Given the description of an element on the screen output the (x, y) to click on. 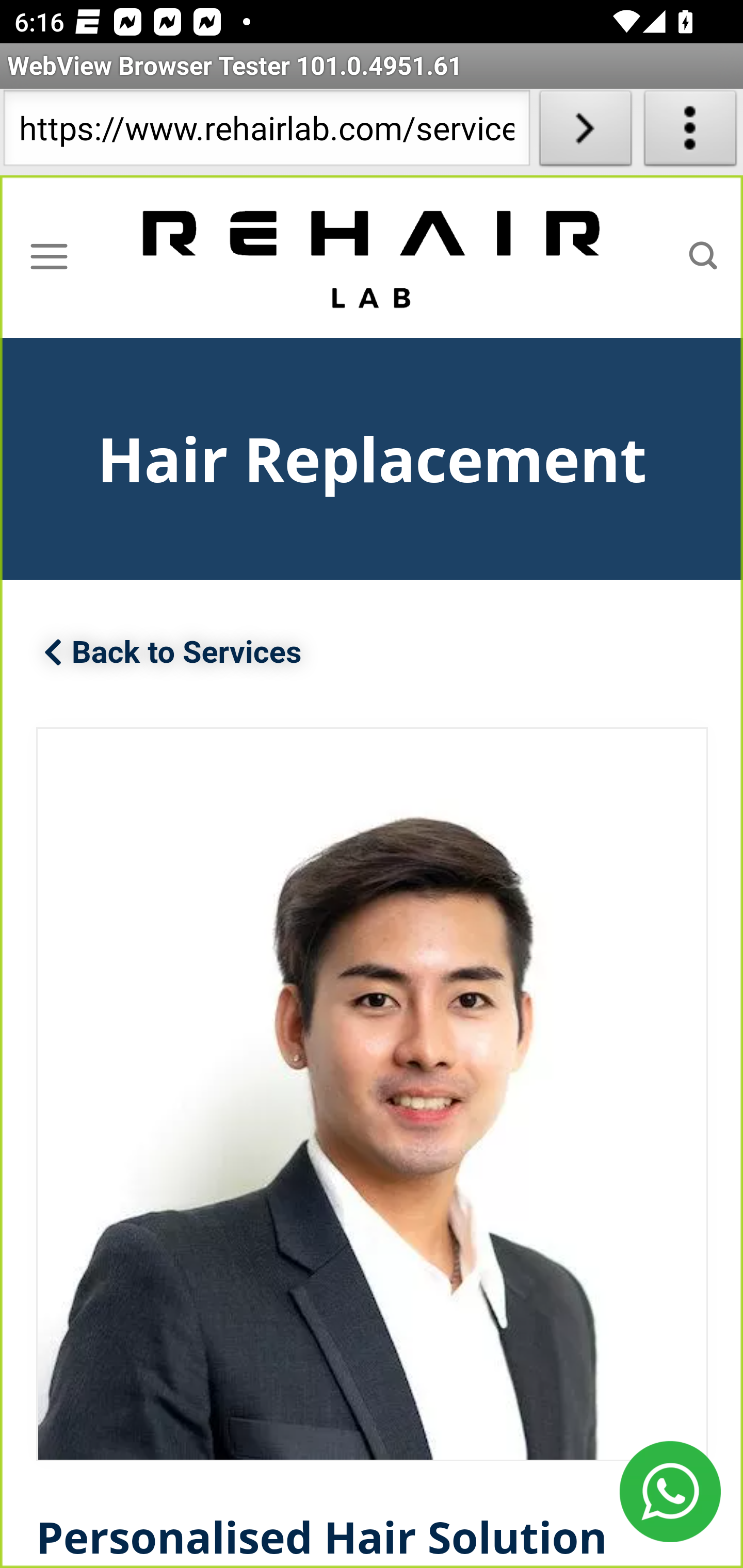
Load URL (585, 132)
About WebView (690, 132)
Rehair Lab (372, 256)
Menu  (48, 256)
Search  (703, 256)
Back to Services (173, 653)
